Given the description of an element on the screen output the (x, y) to click on. 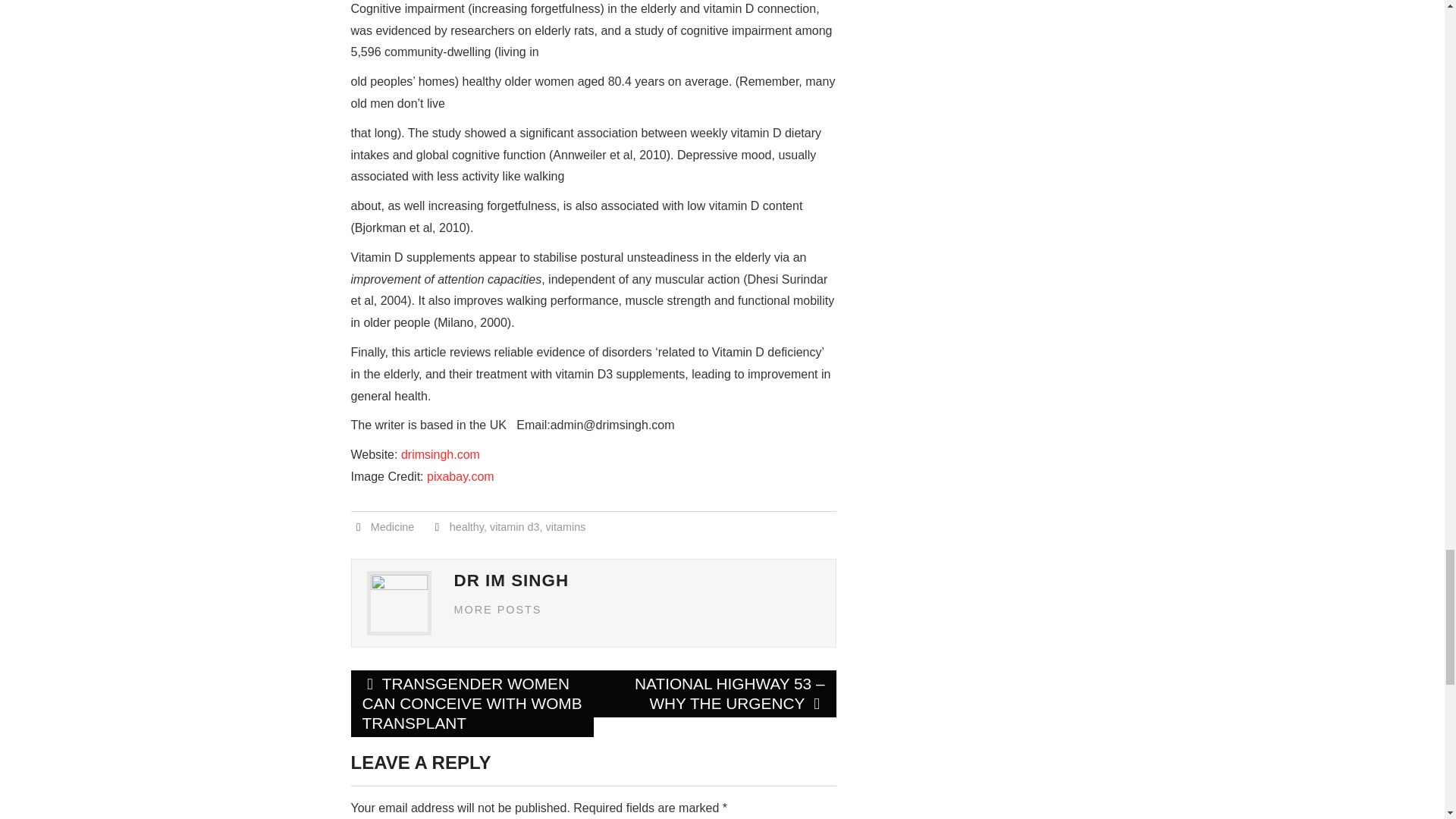
vitamins (566, 526)
Medicine (392, 526)
pixabay.com (460, 476)
TRANSGENDER WOMEN CAN CONCEIVE WITH WOMB TRANSPLANT (471, 703)
healthy (466, 526)
drimsingh.com (440, 454)
MORE POSTS (496, 609)
vitamin d3 (514, 526)
